Given the description of an element on the screen output the (x, y) to click on. 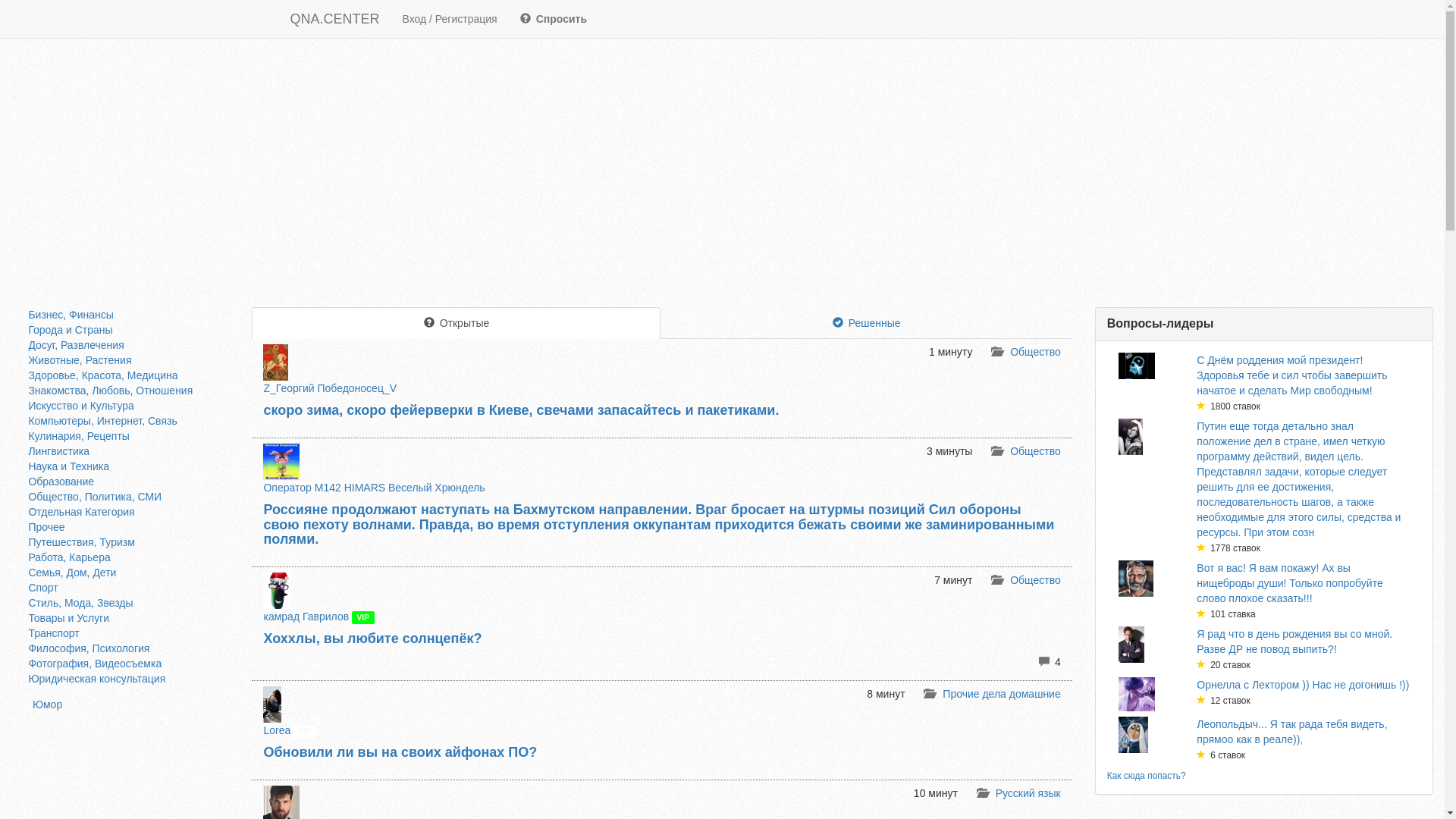
QNA.CENTER Element type: text (335, 18)
Lorea Element type: text (276, 730)
